Given the description of an element on the screen output the (x, y) to click on. 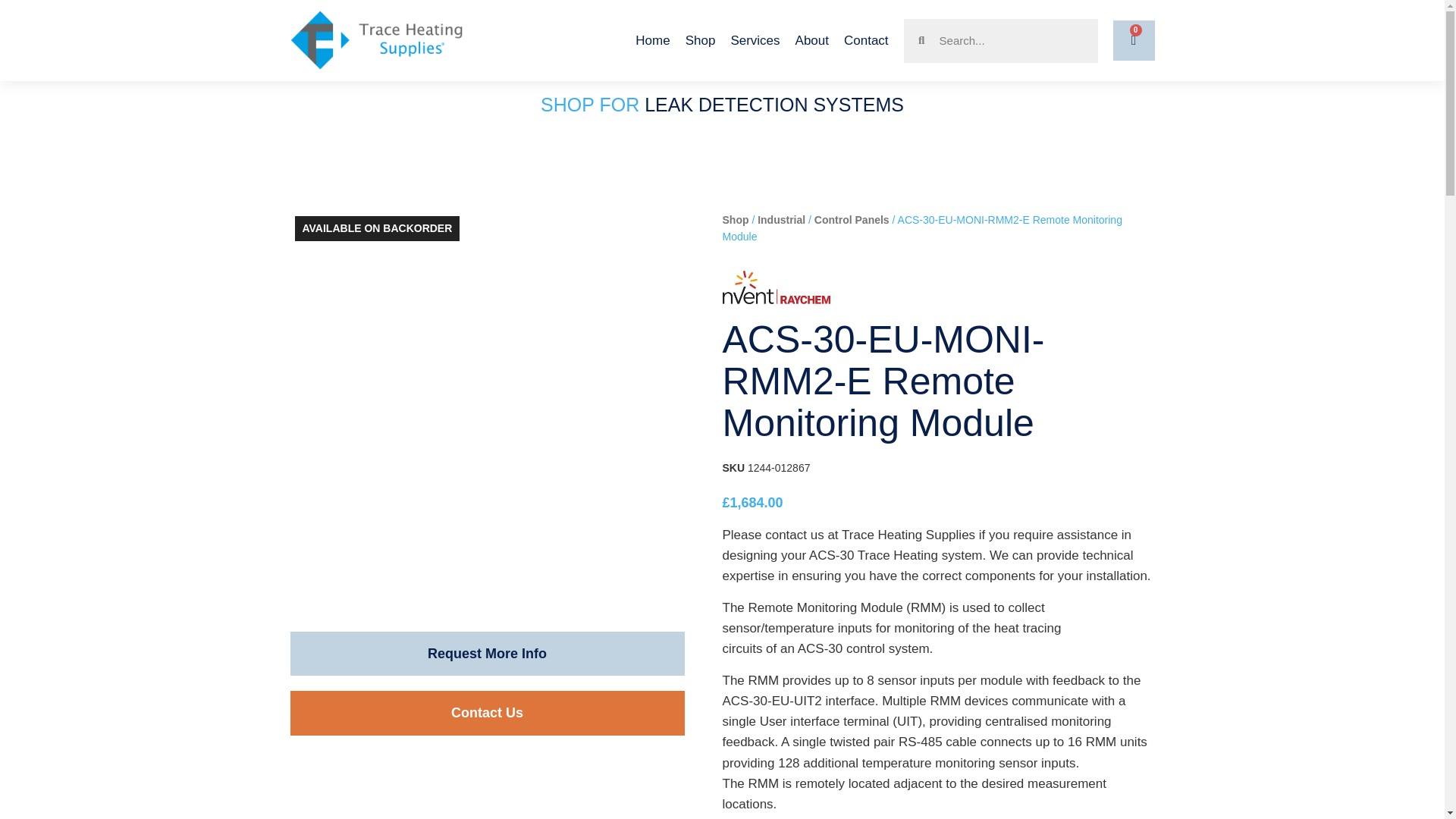
0 (1133, 40)
